Given the description of an element on the screen output the (x, y) to click on. 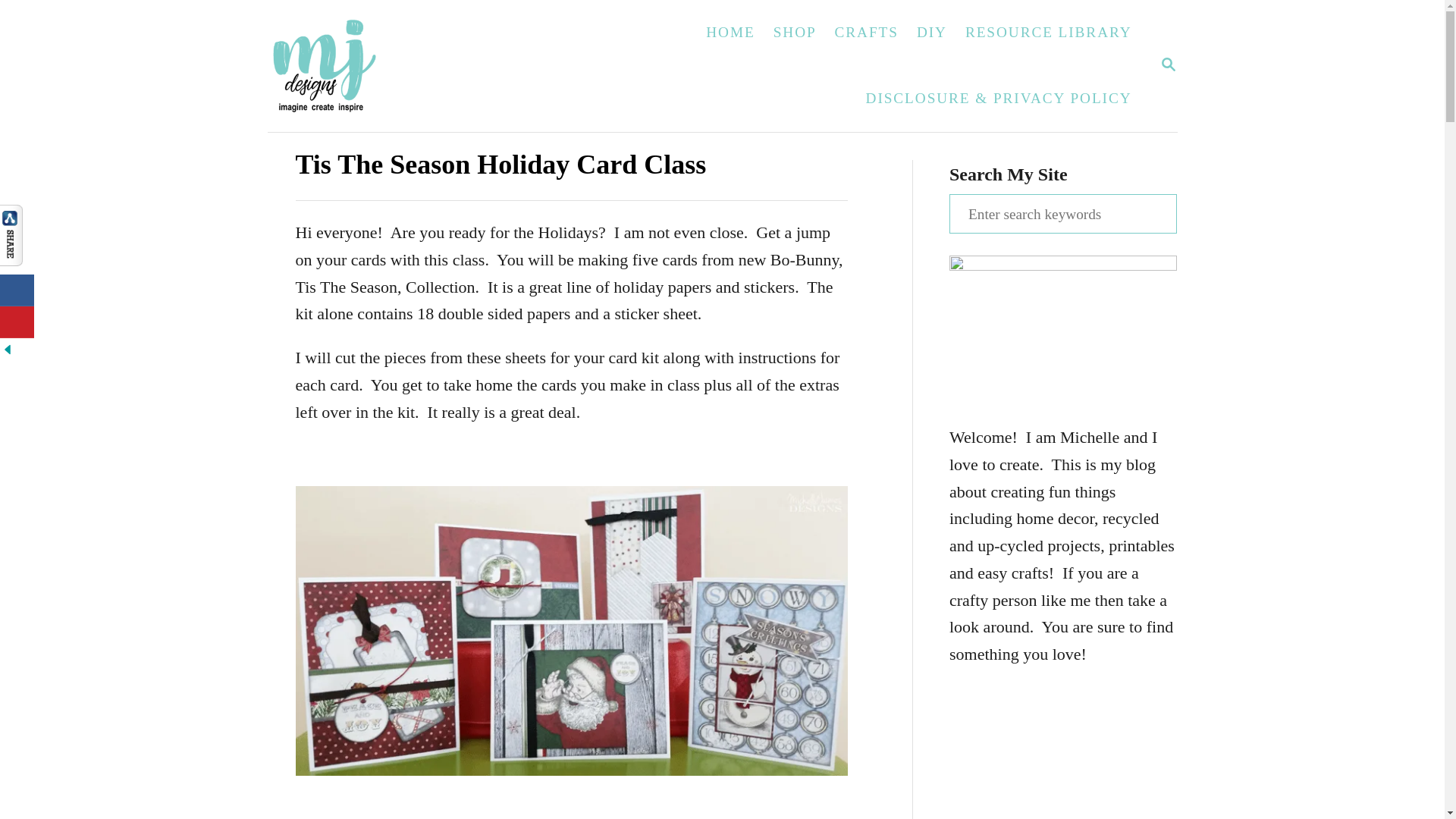
CRAFTS (866, 32)
Share On Facebook (16, 290)
HOME (729, 32)
Search (22, 22)
Share On Pinterest (16, 322)
Search for: (1062, 213)
DIY (931, 32)
Michelle James Designs (371, 65)
SHOP (794, 32)
MAGNIFYING GLASS (1167, 64)
